Given the description of an element on the screen output the (x, y) to click on. 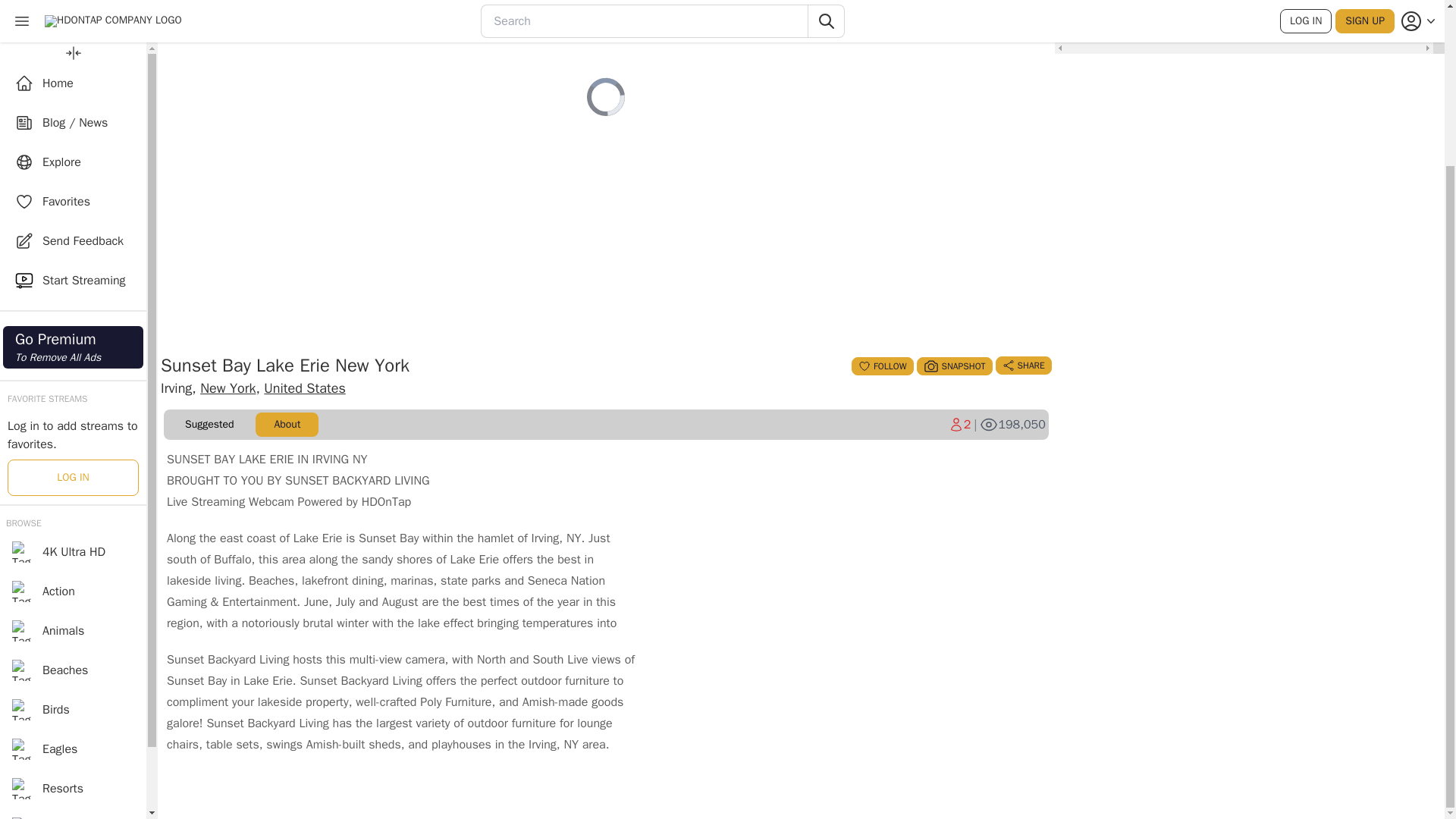
Surf (73, 669)
Follow this stream (881, 366)
Action (72, 148)
Resorts (73, 393)
4K Ultra HD (73, 590)
LOG IN (73, 353)
Beaches (72, 279)
Current viewers (73, 472)
Scenic (960, 424)
FOLLOW (73, 630)
Favorites (881, 366)
Total views (72, 11)
Eagles (1012, 424)
Animals (73, 550)
